Given the description of an element on the screen output the (x, y) to click on. 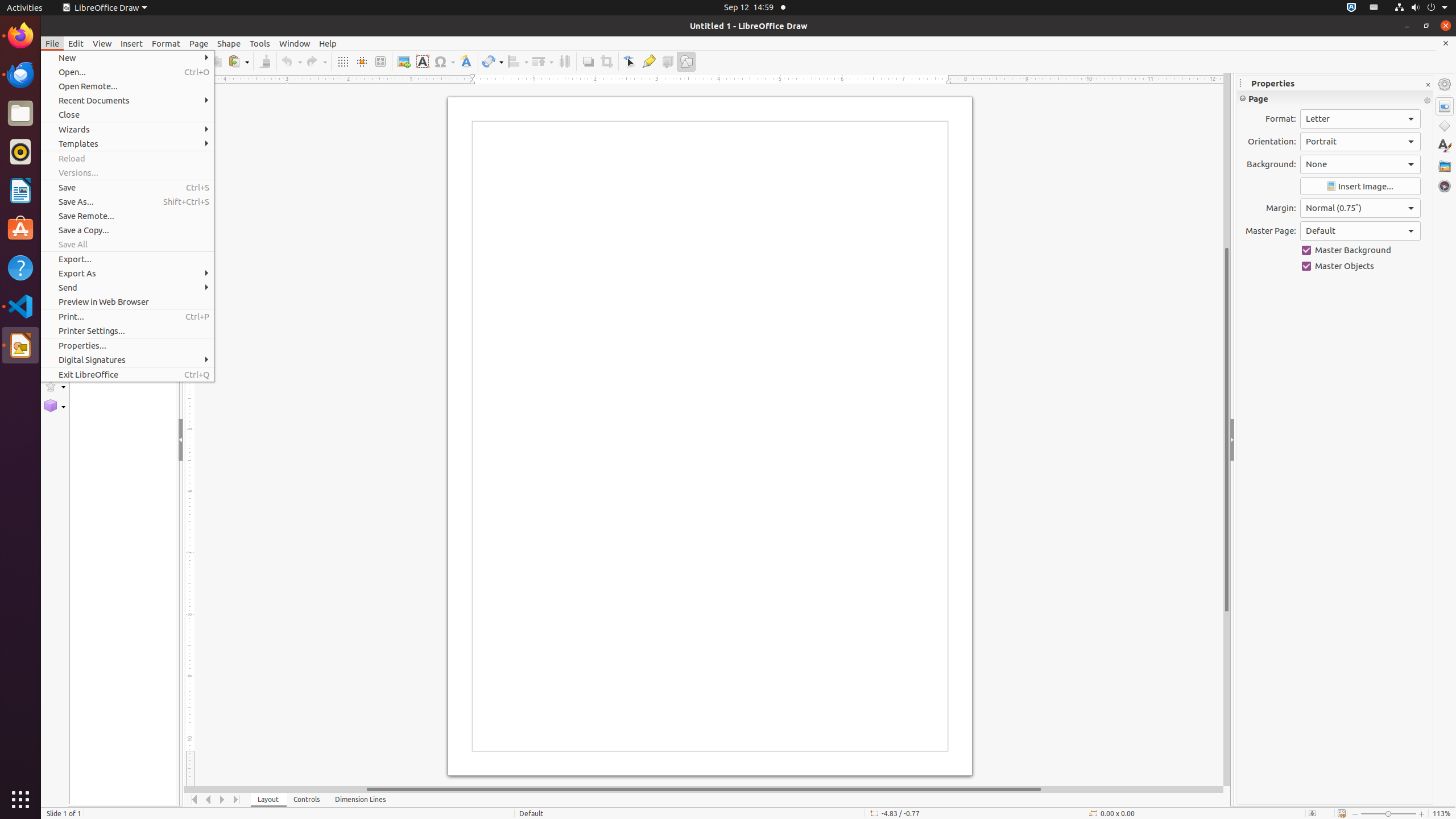
Save All Element type: menu-item (127, 244)
Shapes Element type: radio-button (1444, 126)
Save As... Element type: menu-item (127, 201)
Window Element type: menu (294, 43)
Tools Element type: menu (259, 43)
